Given the description of an element on the screen output the (x, y) to click on. 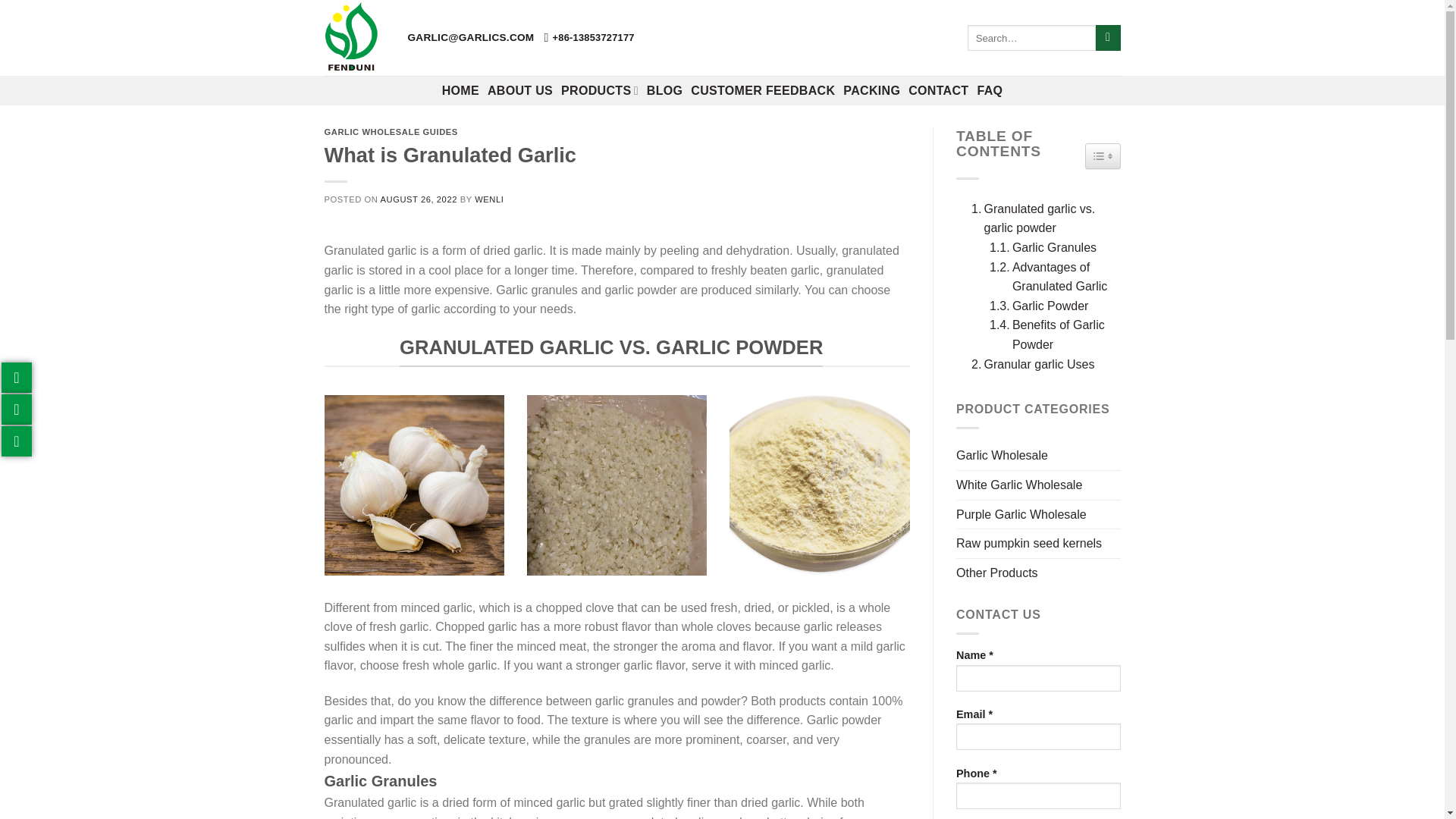
GARLIC WHOLESALE GUIDES (391, 131)
CONTACT (938, 90)
Advantages of Granulated Garlic (1047, 276)
PRODUCTS (599, 90)
Garlic Powder (1034, 306)
Advantages of Granulated Garlic (1047, 276)
Search (1108, 37)
CUSTOMER FEEDBACK (762, 90)
Benefits of Garlic Powder (1047, 334)
FAQ (989, 90)
Garlic Granules (1038, 247)
Garlic Powder (1034, 306)
Granular garlic Uses (1028, 364)
WENLI (488, 198)
BLOG (664, 90)
